Given the description of an element on the screen output the (x, y) to click on. 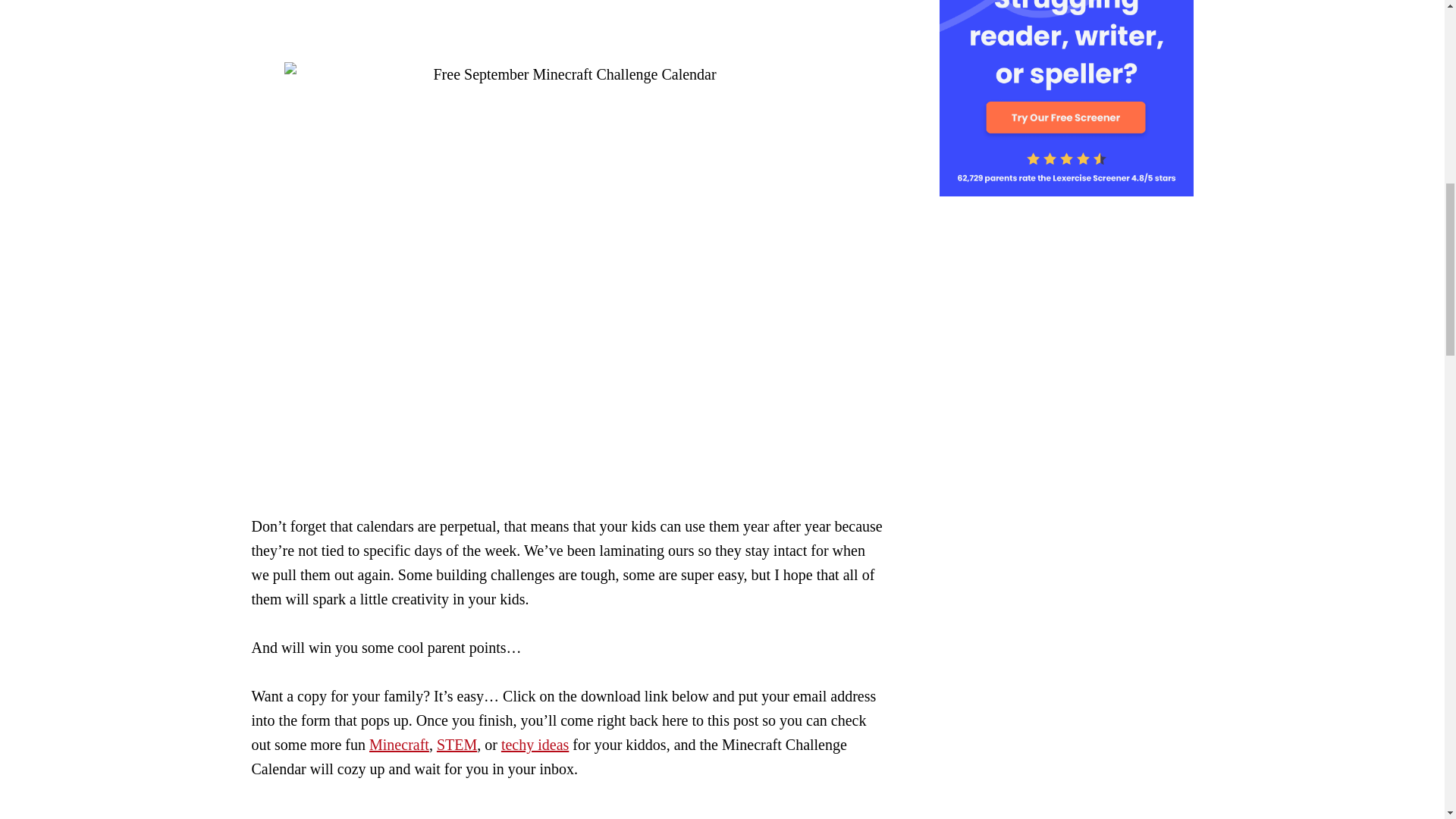
STEM (456, 744)
techy ideas (534, 744)
Minecraft (399, 744)
